Given the description of an element on the screen output the (x, y) to click on. 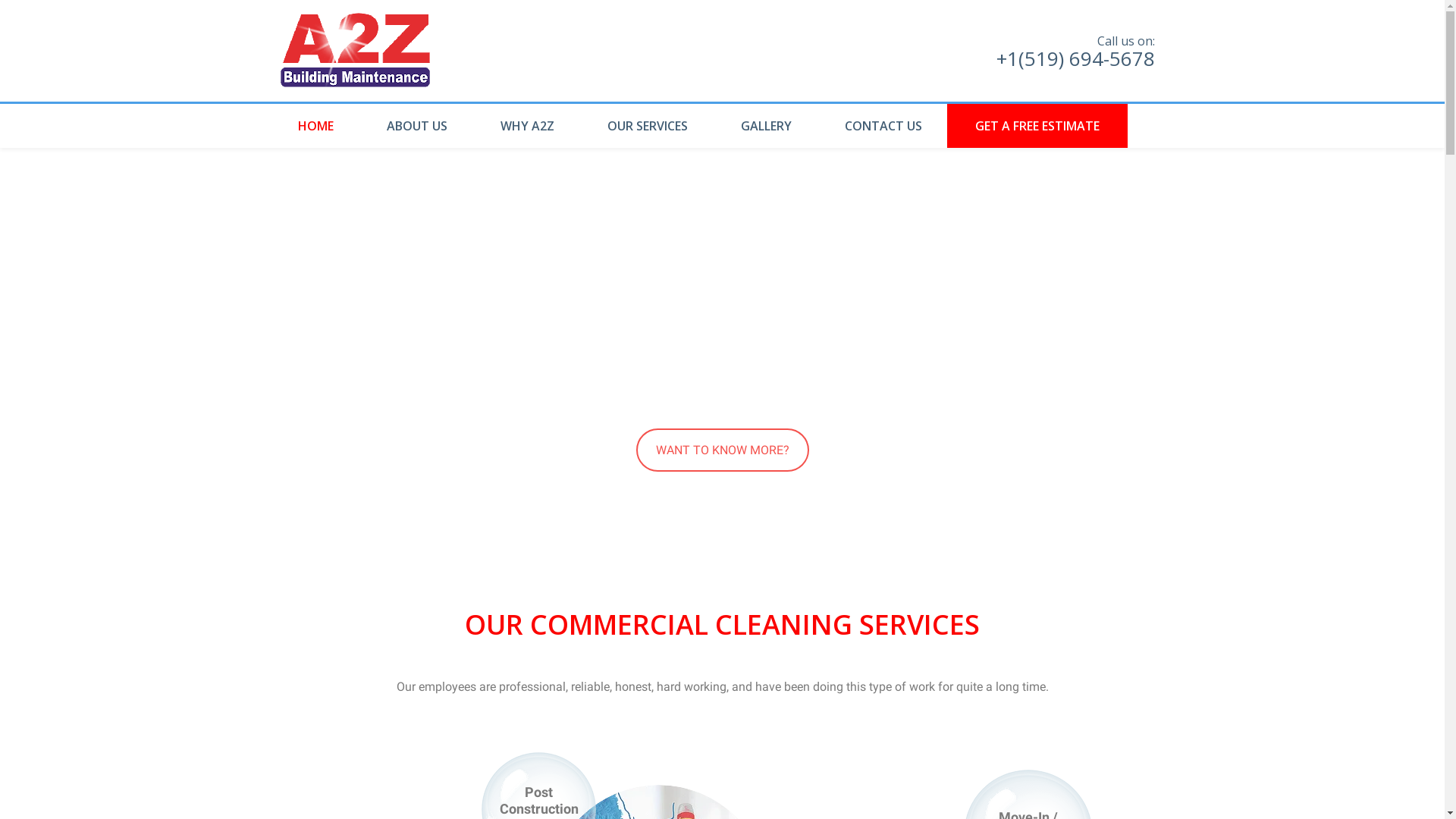
CONTACT US Element type: text (882, 125)
HOME Element type: text (320, 125)
ABOUT US Element type: text (415, 125)
OUR SERVICES Element type: text (647, 125)
WHY A2Z Element type: text (526, 125)
GET A FREE ESTIMATE Element type: text (1036, 125)
+1(519) 694-5678 Element type: text (1075, 58)
GALLERY Element type: text (765, 125)
WANT TO KNOW MORE? Element type: text (721, 449)
